Given the description of an element on the screen output the (x, y) to click on. 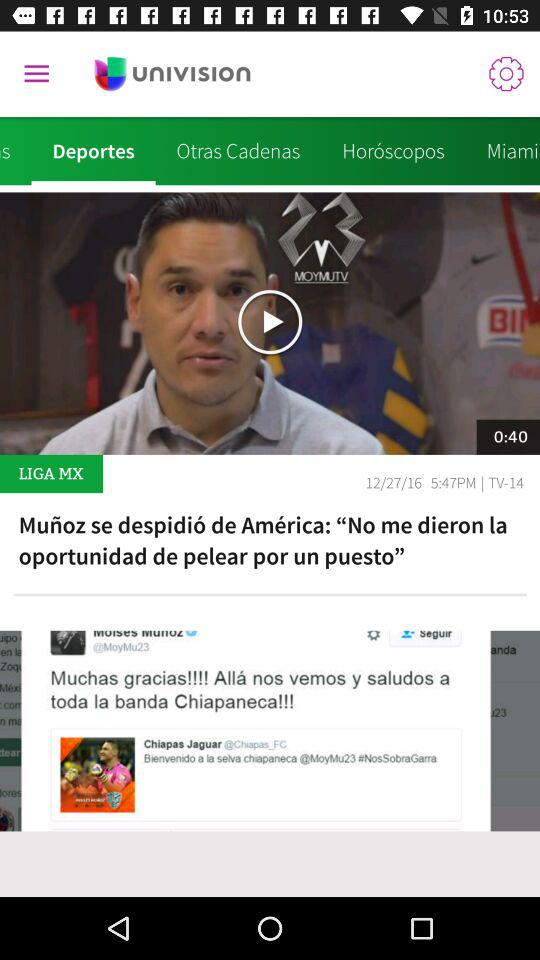
turn on item to the left of the otras cadenas item (93, 151)
